Given the description of an element on the screen output the (x, y) to click on. 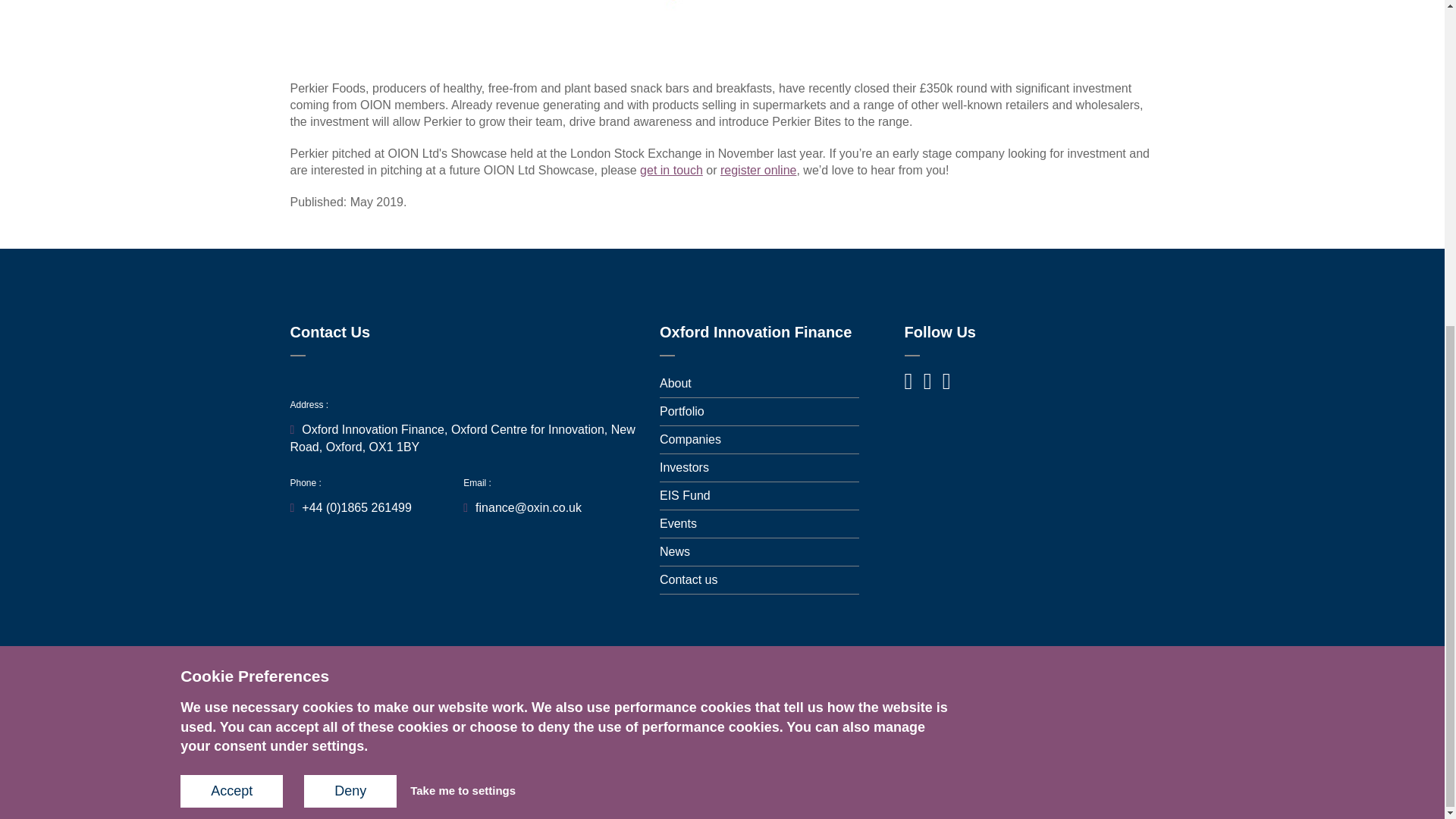
EIS Fund (684, 495)
Investors (684, 467)
get in touch (671, 169)
Privacy Policy (630, 779)
Site Map (558, 779)
News (674, 551)
Portfolio (681, 410)
About (675, 382)
Contact us (688, 579)
register online (758, 169)
Events (678, 522)
Companies (689, 439)
